Given the description of an element on the screen output the (x, y) to click on. 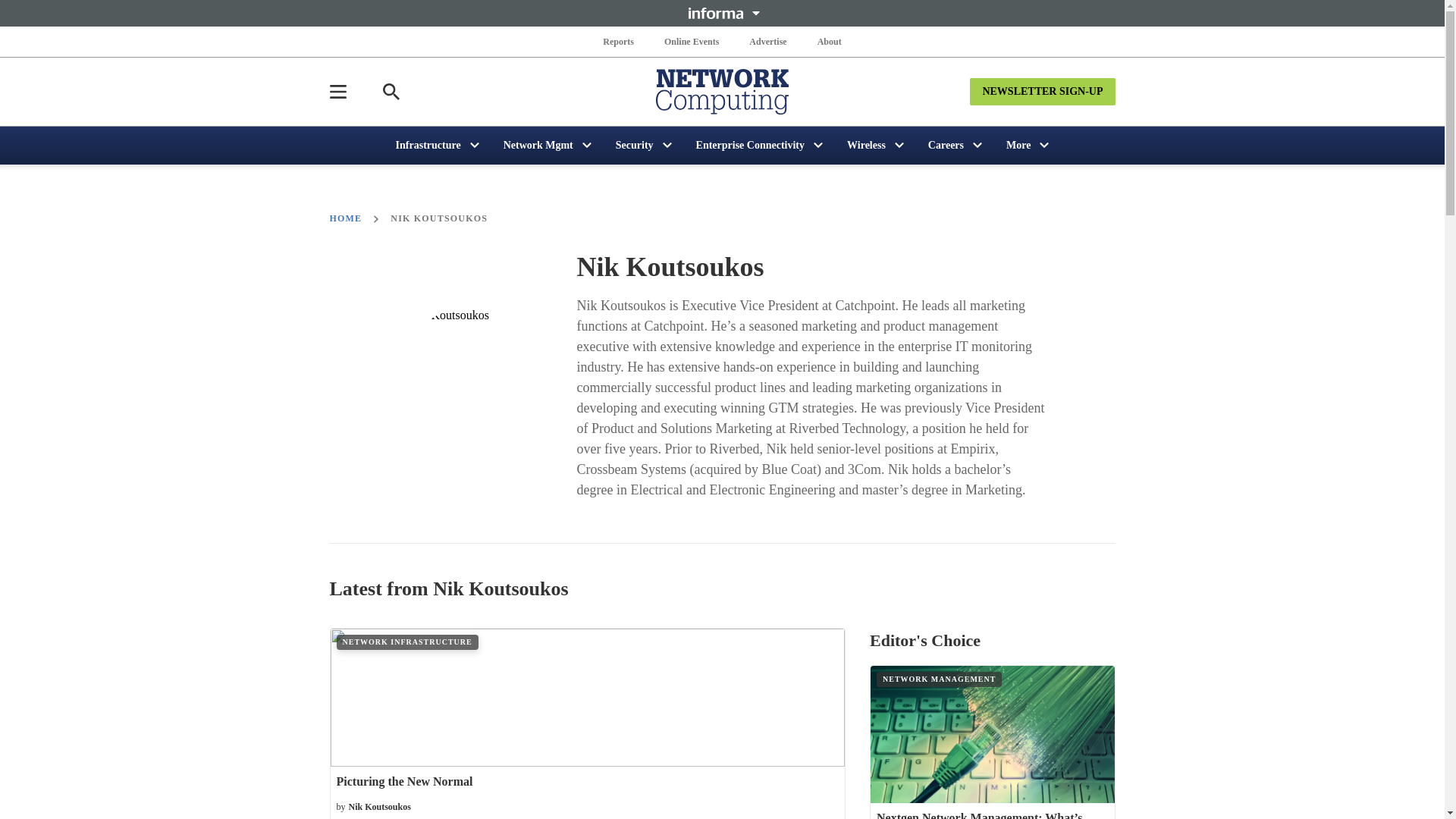
Nik Koutsoukos (471, 380)
Advertise (767, 41)
Network Computing Logo (722, 91)
About (828, 41)
NEWSLETTER SIGN-UP (1042, 90)
Reports (618, 41)
Online Events (691, 41)
